Given the description of an element on the screen output the (x, y) to click on. 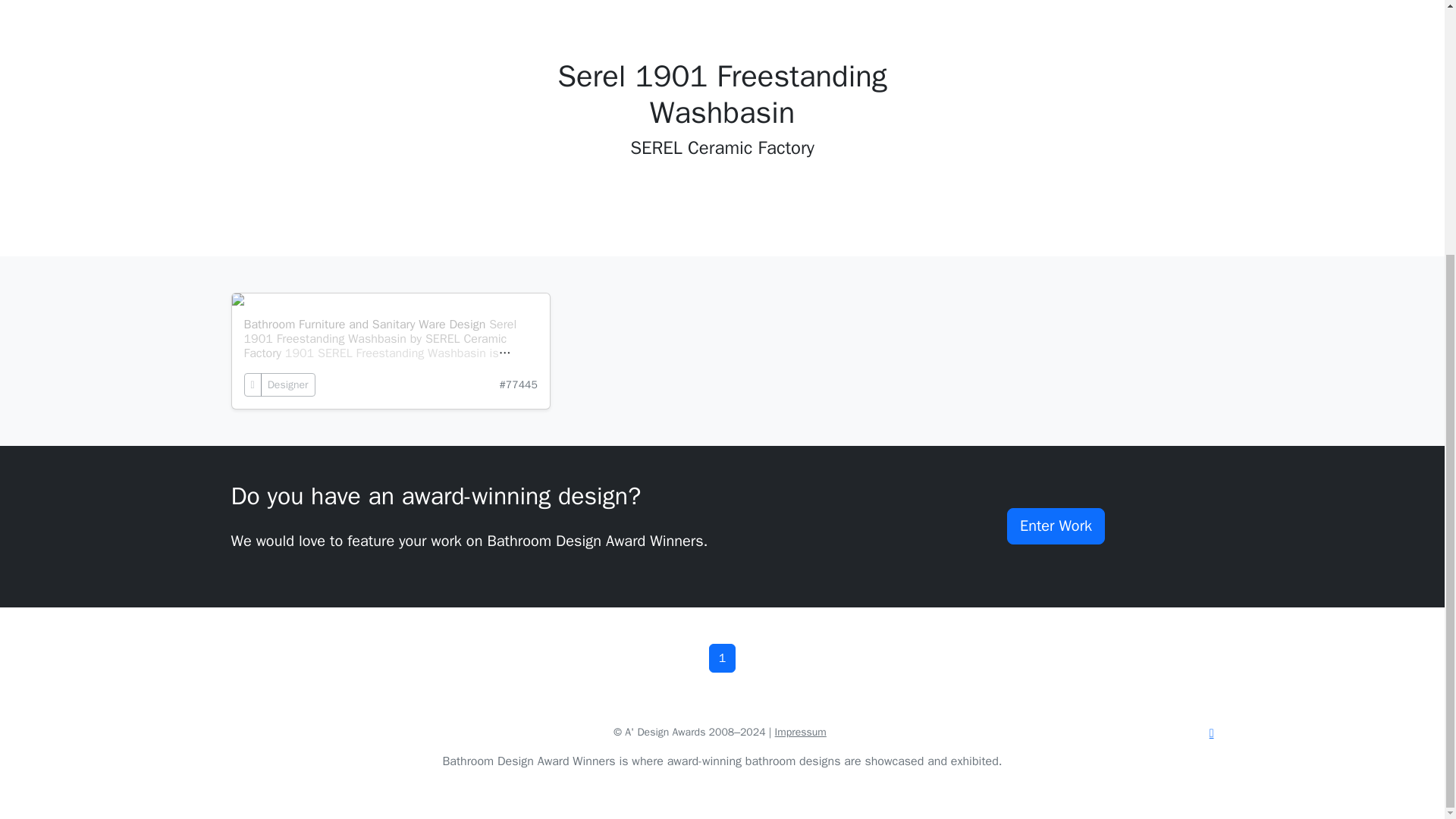
1 (722, 657)
Impressum (800, 731)
Enter Work (1056, 525)
Designer (287, 384)
